Given the description of an element on the screen output the (x, y) to click on. 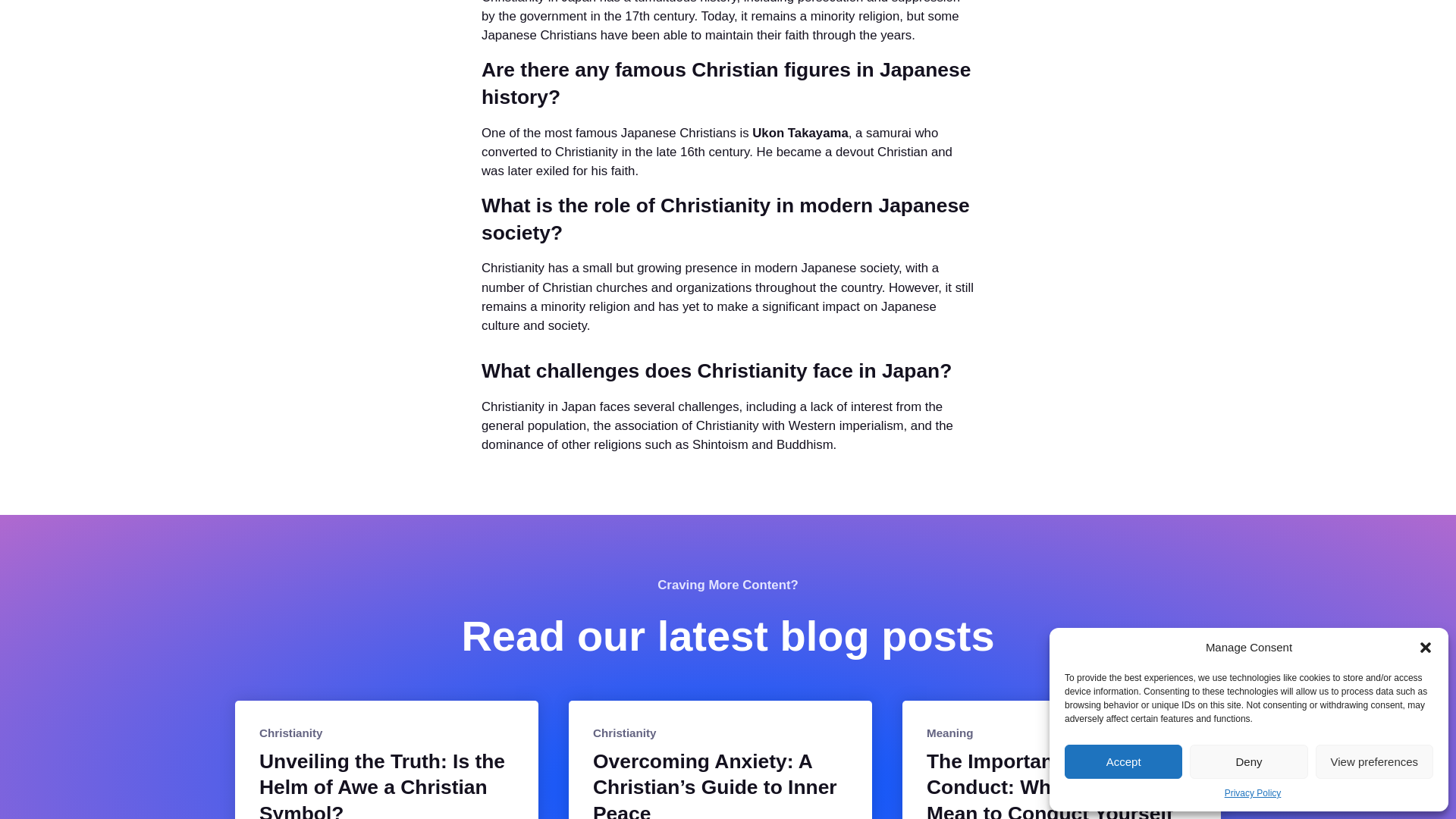
Christianity (624, 732)
Meaning (950, 732)
Unveiling the Truth: Is the Helm of Awe a Christian Symbol? (386, 783)
Christianity (291, 732)
